Given the description of an element on the screen output the (x, y) to click on. 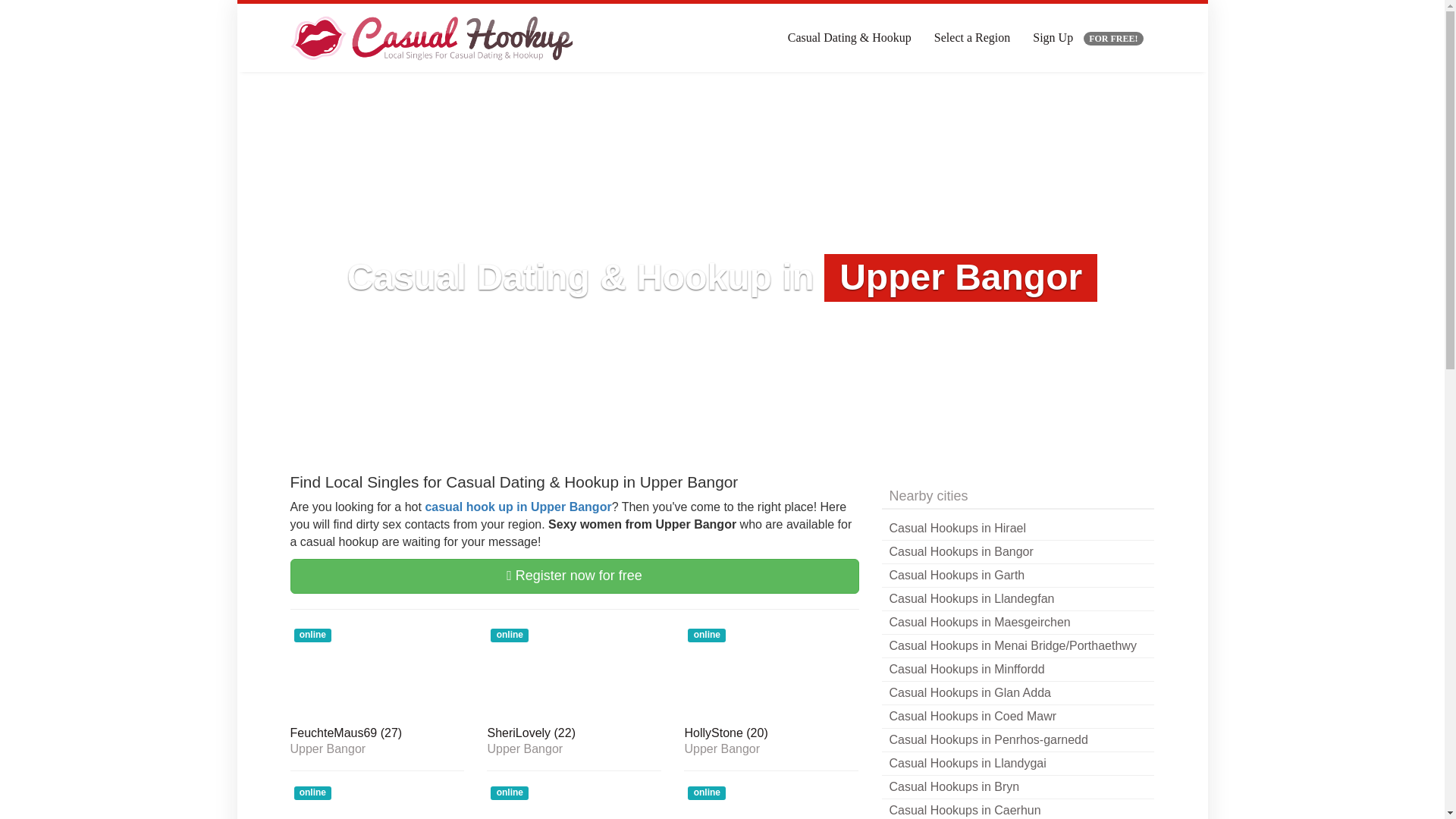
online (573, 671)
Date HollyStone now! (771, 734)
online (376, 800)
Register now for free (574, 575)
online (771, 671)
Sign Up FOR FREE! (1088, 37)
Date FeuchteMaus69 now! (376, 671)
Date SEXabenteuer2 now! (771, 800)
online (376, 671)
Upper Bangor (376, 748)
online (771, 800)
Date FeuchteMaus69 now! (376, 734)
online (573, 800)
Casual Hookup (435, 37)
Date AllieFlirt now! (376, 800)
